Given the description of an element on the screen output the (x, y) to click on. 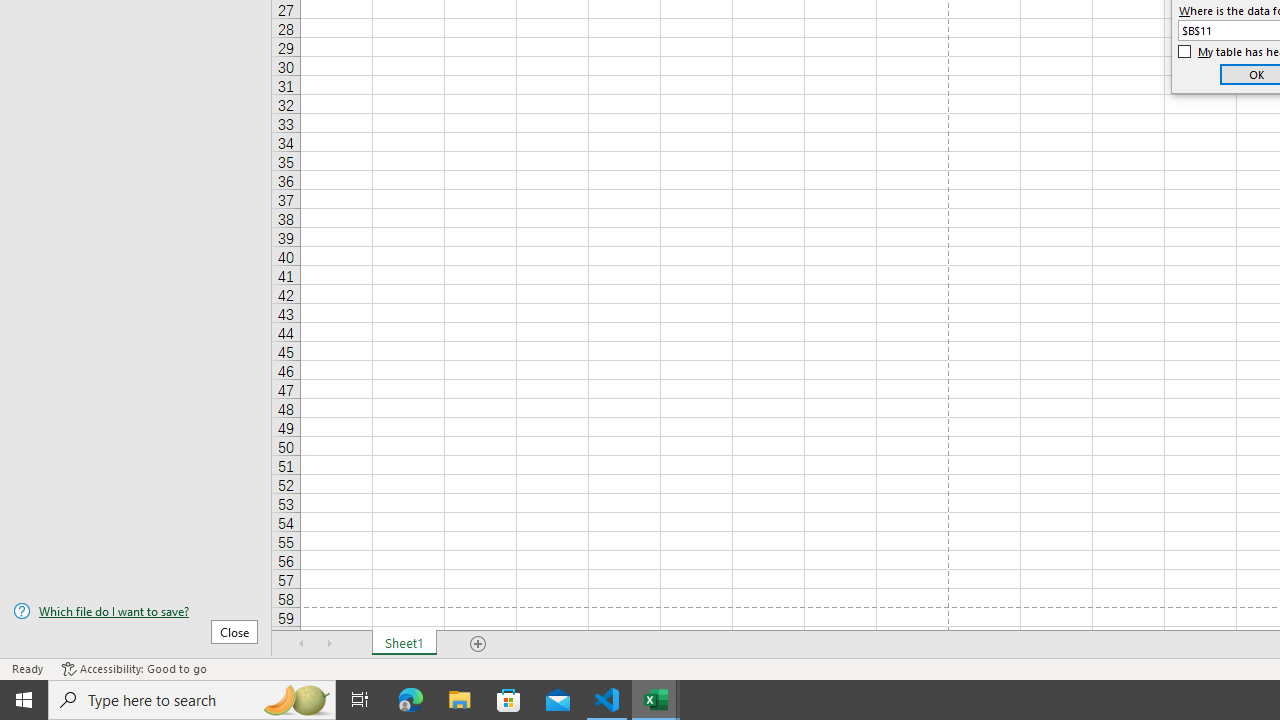
Scroll Right (330, 644)
Which file do I want to save? (136, 611)
Scroll Left (302, 644)
Accessibility Checker Accessibility: Good to go (134, 668)
Add Sheet (478, 644)
Sheet1 (404, 644)
Close (234, 631)
